Given the description of an element on the screen output the (x, y) to click on. 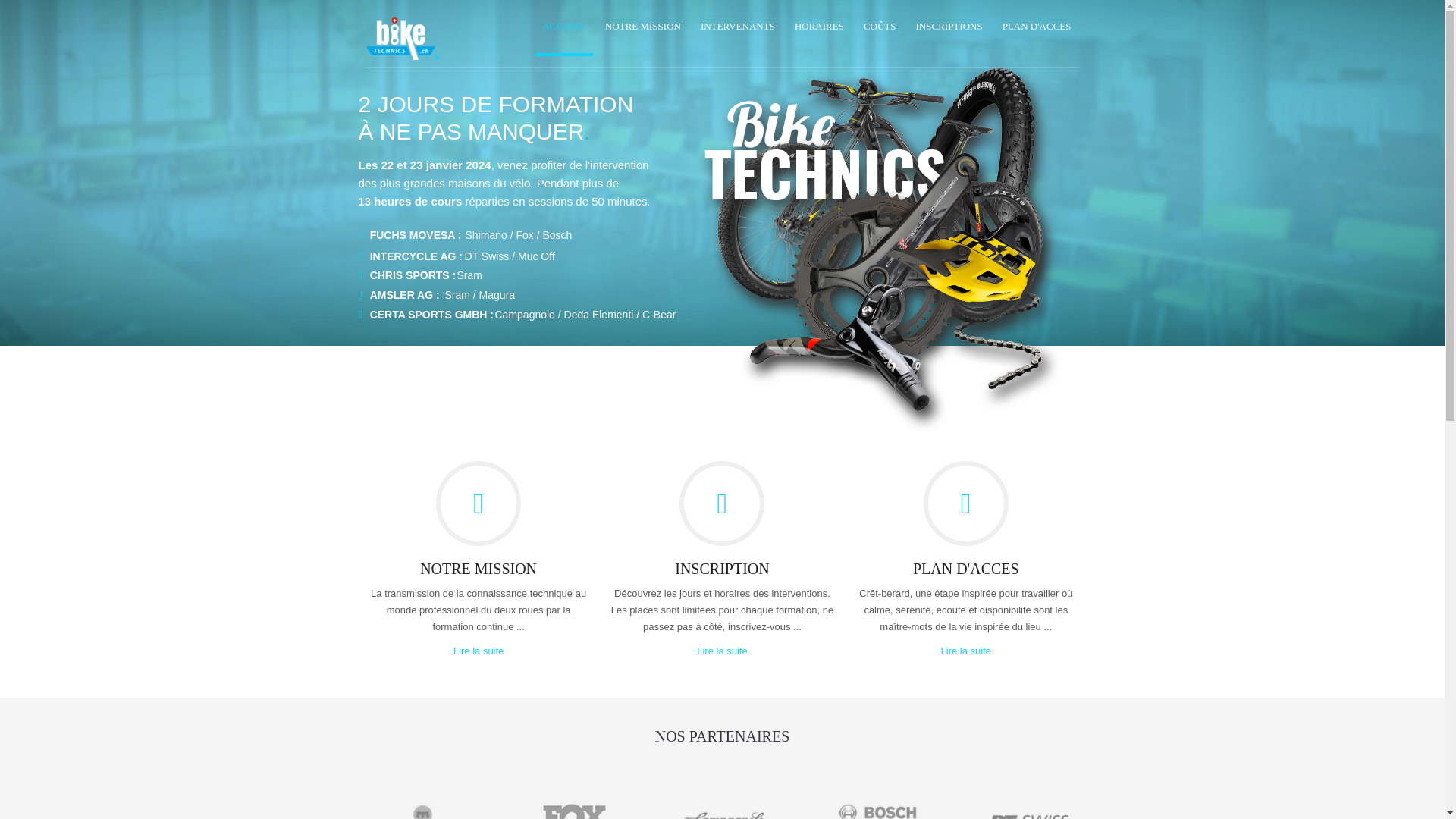
FUCHS MOVESA : Element type: text (415, 235)
INTERVENANTS Element type: text (737, 28)
Sram / Magura Element type: text (479, 294)
Campagnolo / Deda Elementi / C-Bear Element type: text (584, 314)
DT Swiss / Muc Off Element type: text (509, 256)
INTERCYCLE AG : Element type: text (416, 256)
INSCRIPTIONS Element type: text (949, 28)
Shimano / Fox / Bosch Element type: text (518, 235)
Lire la suite Element type: text (478, 650)
AMSLER AG : Element type: text (404, 294)
ACCUEIL Element type: text (564, 28)
Sram Element type: text (468, 275)
Lire la suite Element type: text (721, 650)
CERTA SPORTS GMBH : Element type: text (431, 314)
Lire la suite Element type: text (966, 650)
PLAN D'ACCES Element type: text (1036, 28)
NOTRE MISSION Element type: text (642, 28)
CHRIS SPORTS : Element type: text (413, 275)
HORAIRES Element type: text (819, 28)
